Given the description of an element on the screen output the (x, y) to click on. 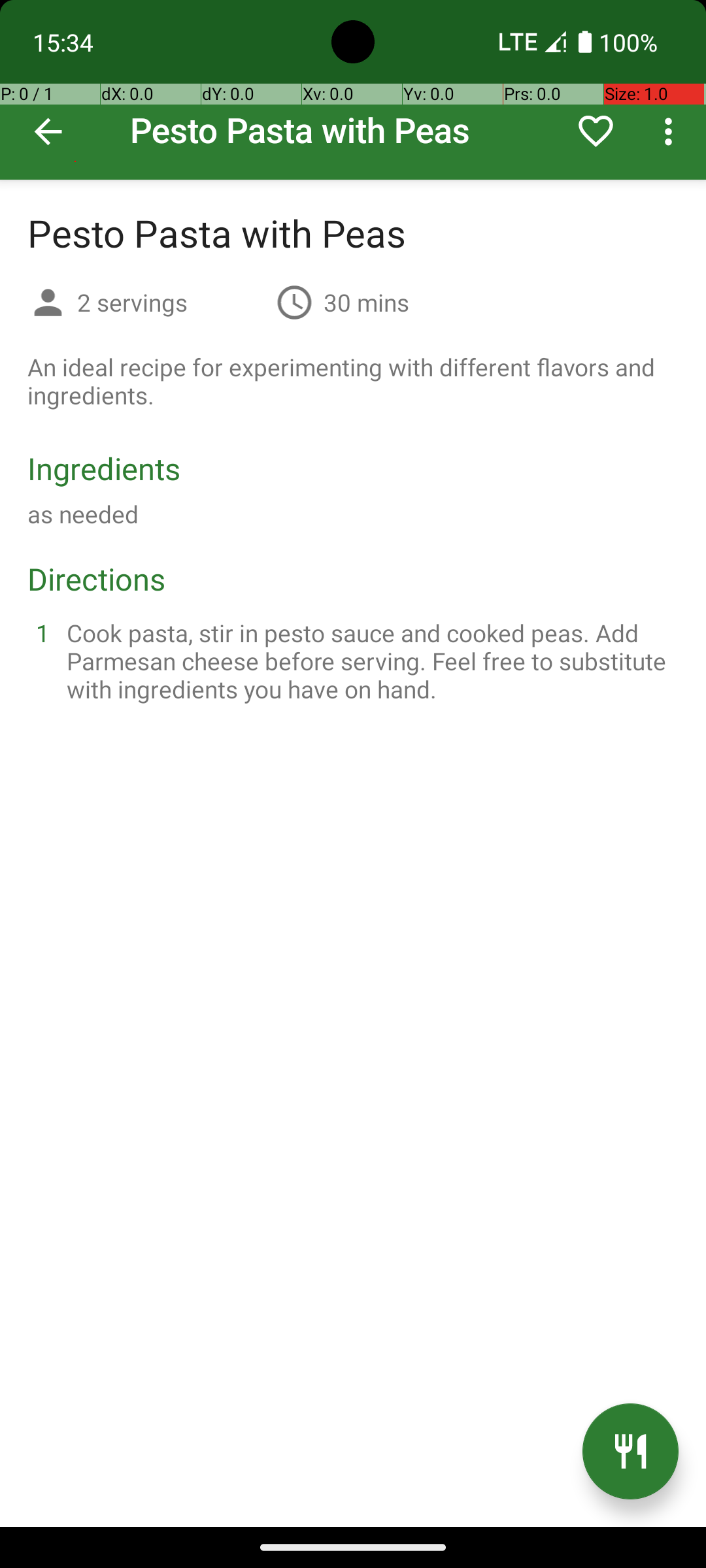
Cook pasta, stir in pesto sauce and cooked peas. Add Parmesan cheese before serving. Feel free to substitute with ingredients you have on hand. Element type: android.widget.TextView (368, 660)
